Given the description of an element on the screen output the (x, y) to click on. 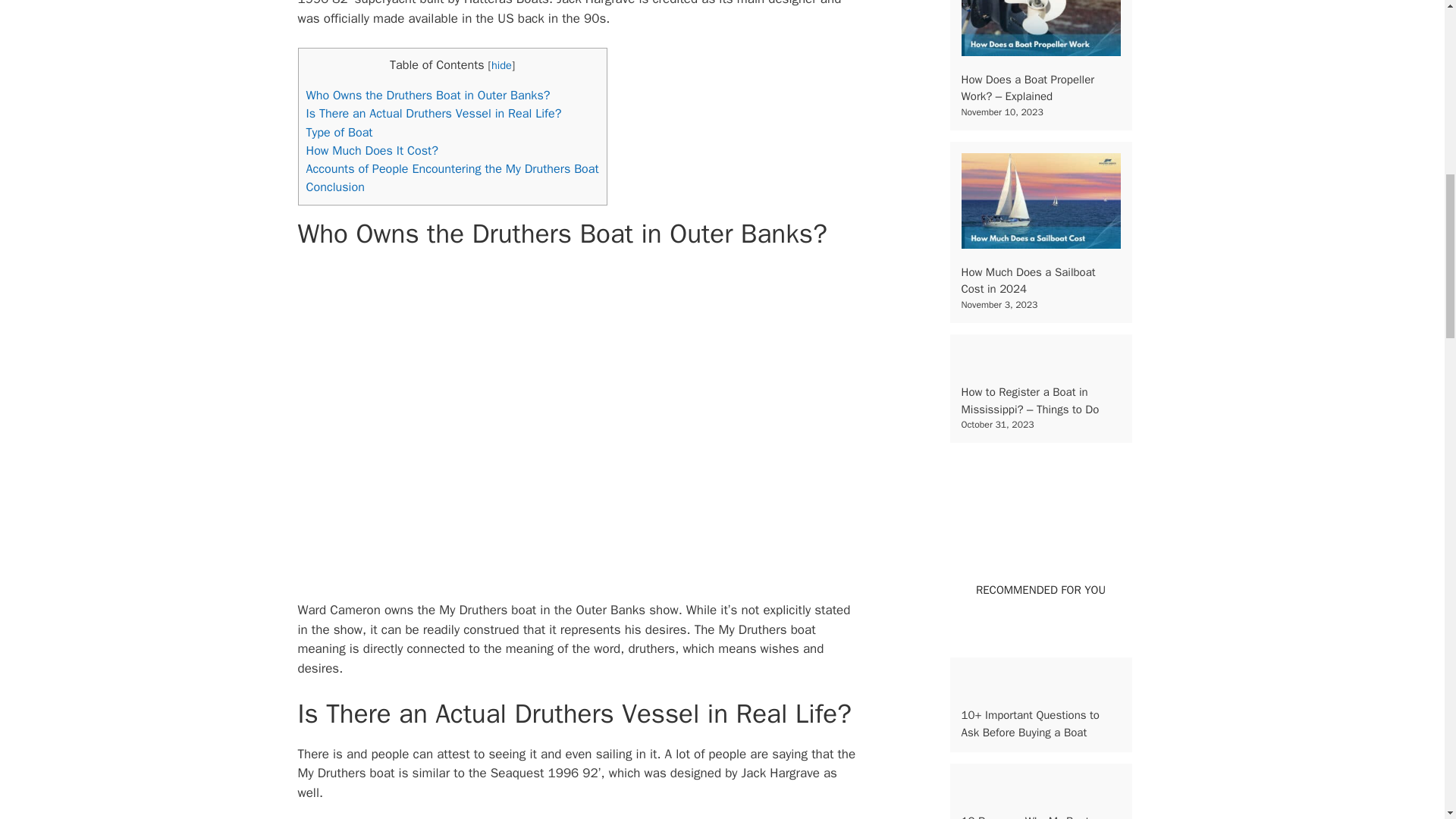
Scroll back to top (1406, 720)
hide (502, 65)
Type of Boat (338, 132)
Who Owns the Druthers Boat in Outer Banks? (427, 94)
Accounts of People Encountering the My Druthers Boat (451, 168)
Conclusion (335, 186)
How Much Does It Cost? (371, 150)
Is There an Actual Druthers Vessel in Real Life? (433, 113)
